Given the description of an element on the screen output the (x, y) to click on. 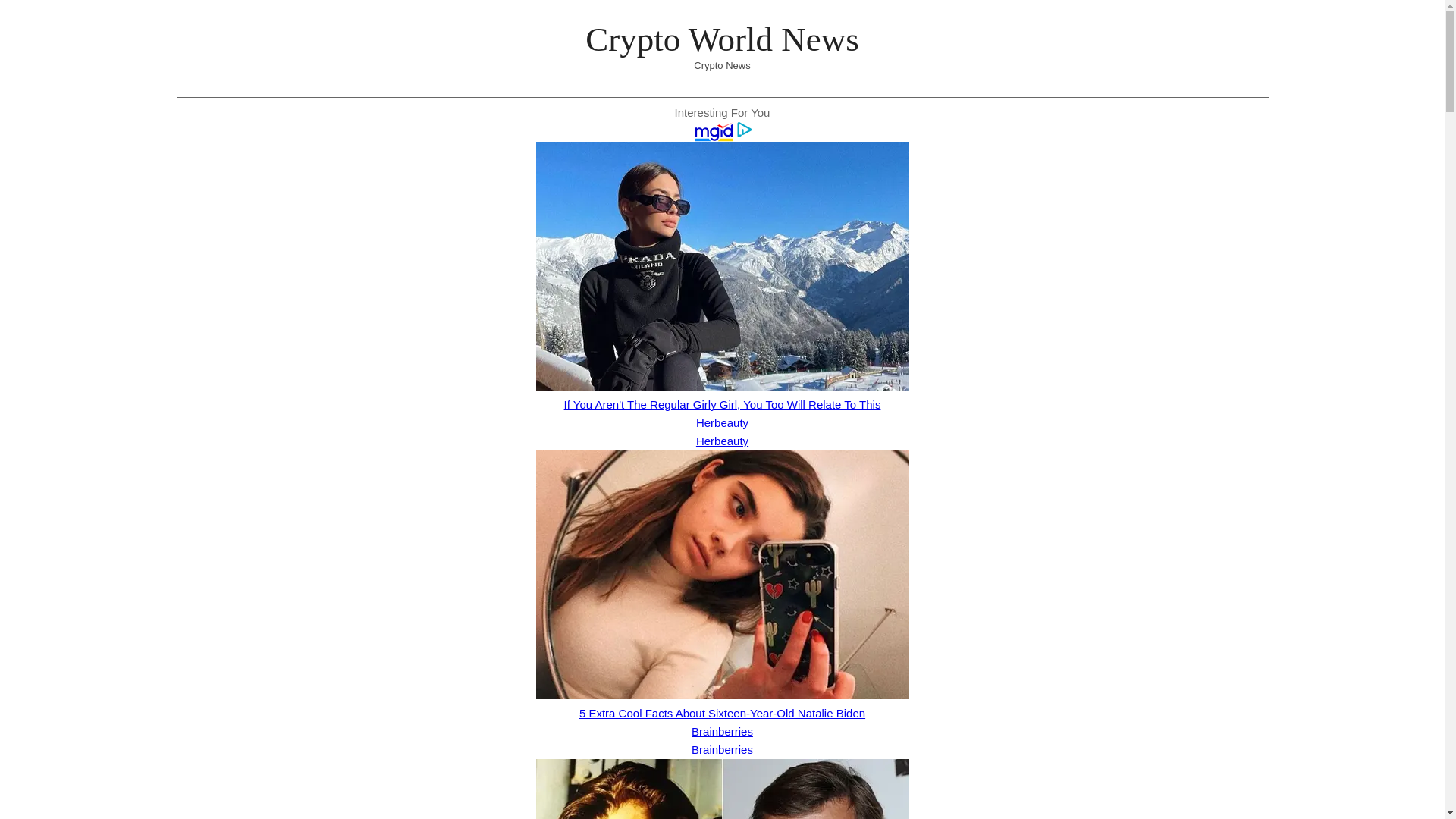
Crypto World News (722, 39)
